Given the description of an element on the screen output the (x, y) to click on. 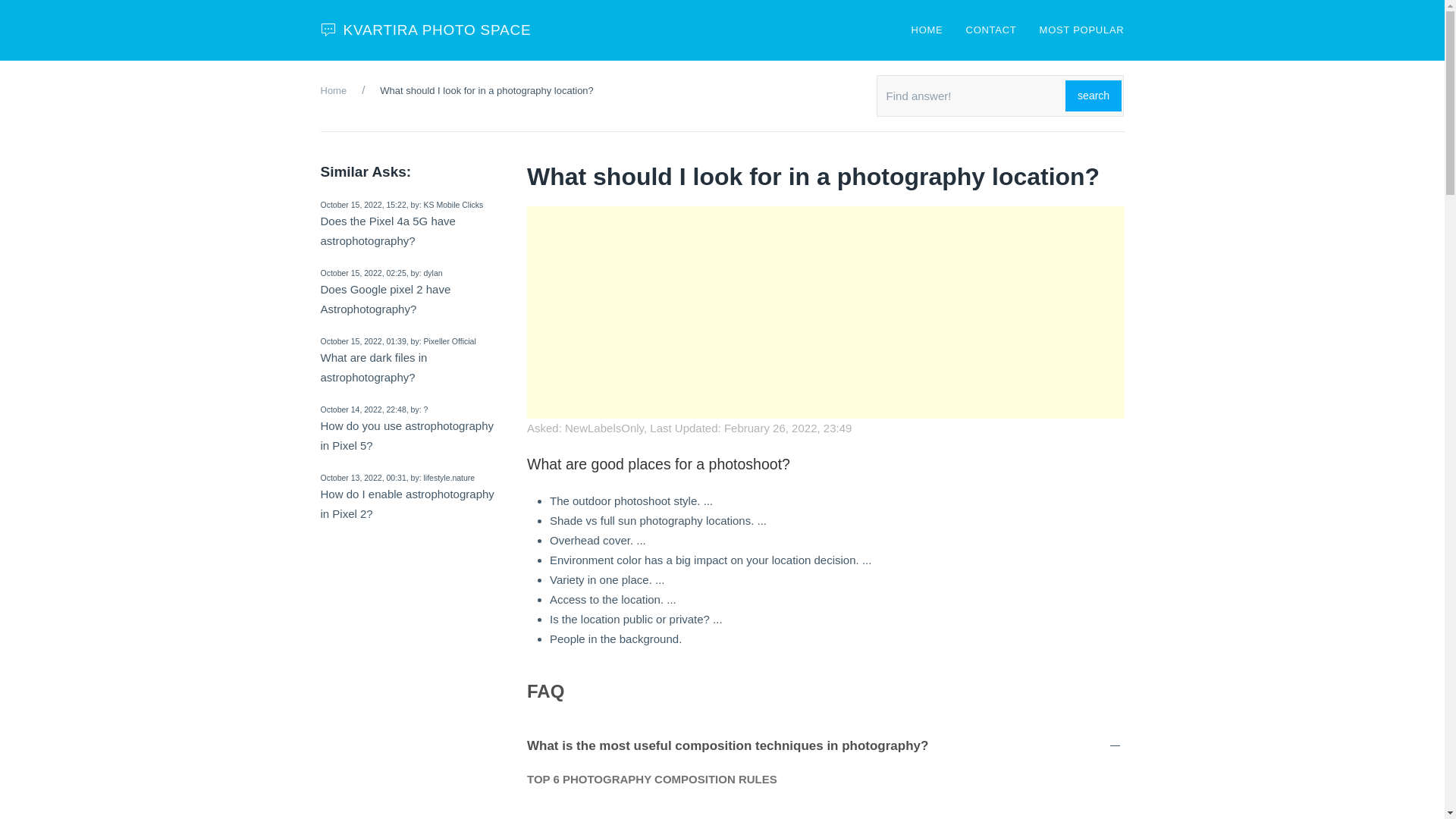
What are dark files in astrophotography? (373, 367)
KVARTIRA PHOTO SPACE (425, 30)
Does the Pixel 4a 5G have astrophotography? (387, 230)
How do you use astrophotography in Pixel 5? (406, 435)
CONTACT (991, 30)
How do I enable astrophotography in Pixel 2? (406, 503)
search (1093, 96)
Does Google pixel 2 have Astrophotography? (384, 298)
What are dark files in astrophotography? (373, 367)
Home (333, 90)
Advertisement (825, 312)
Does Google pixel 2 have Astrophotography? (384, 298)
How do I enable astrophotography in Pixel 2? (406, 503)
HOME (927, 30)
search (1093, 96)
